Given the description of an element on the screen output the (x, y) to click on. 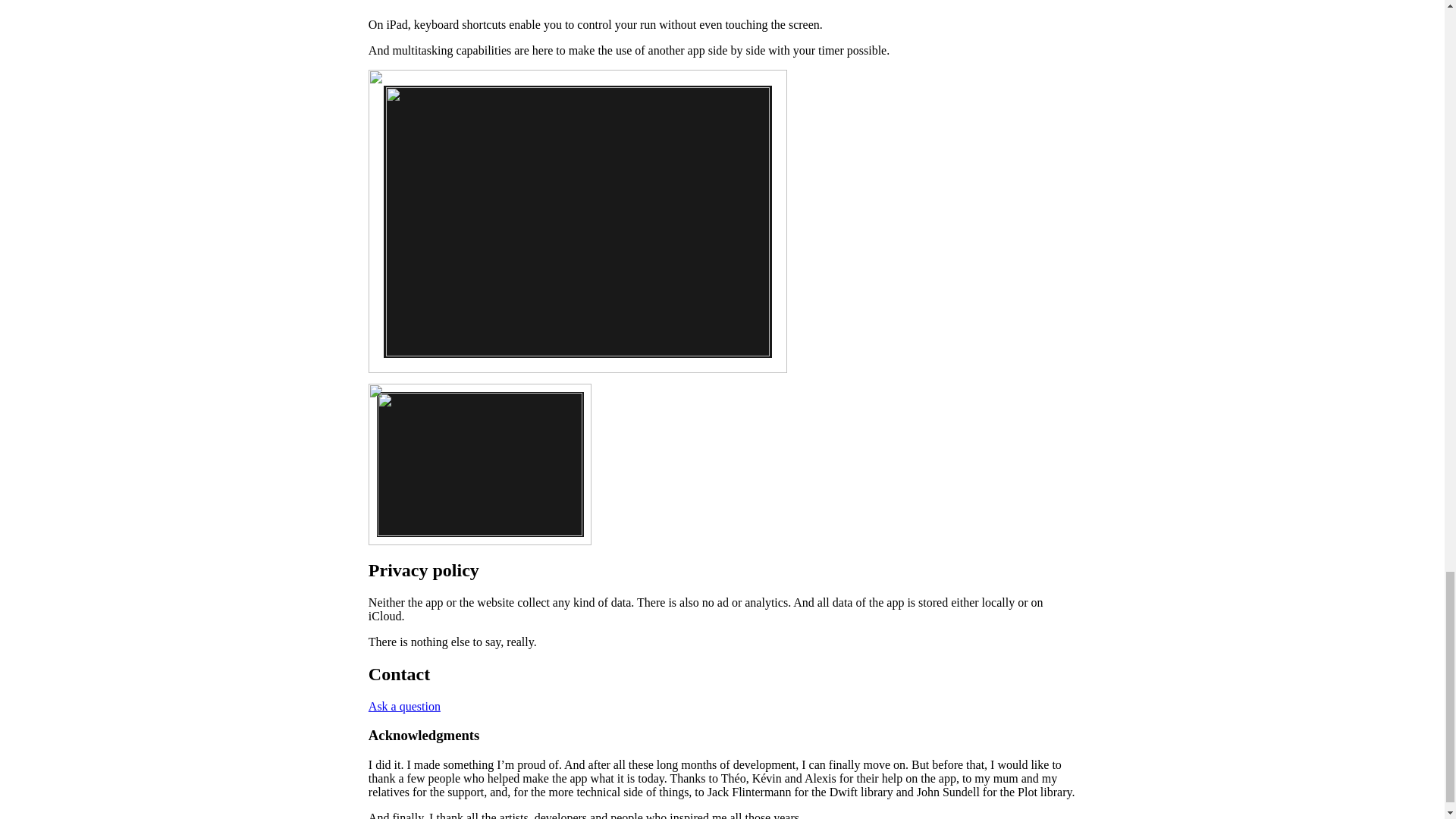
Ask a question (404, 706)
